Given the description of an element on the screen output the (x, y) to click on. 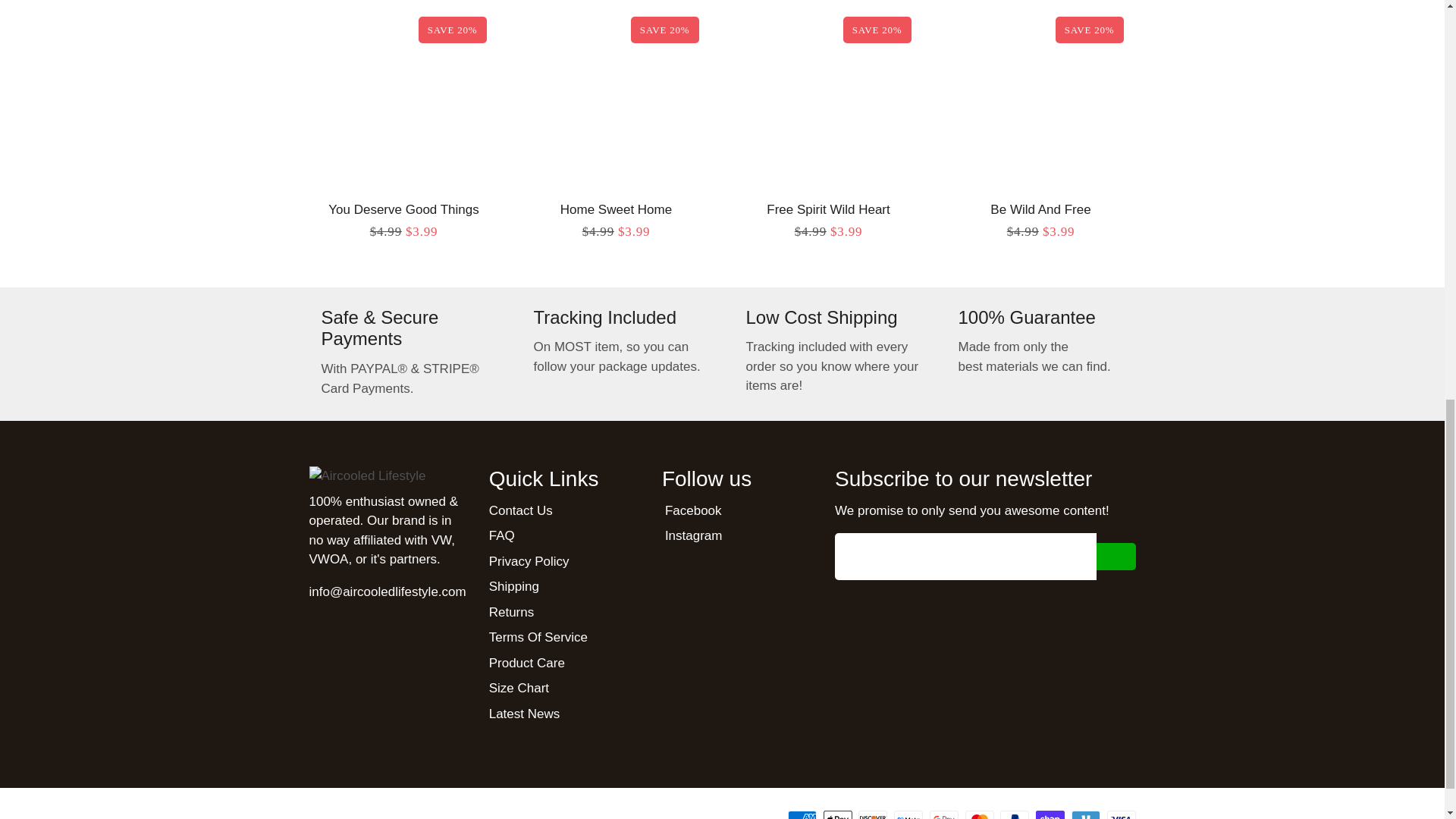
Apple Pay (837, 814)
Aircooled Lifestyle on Facebook (692, 510)
Meta Pay (908, 814)
Venmo (1085, 814)
PayPal (1014, 814)
American Express (801, 814)
Aircooled Lifestyle on Instagram (692, 536)
Mastercard (979, 814)
Shop Pay (1049, 814)
Google Pay (944, 814)
